Given the description of an element on the screen output the (x, y) to click on. 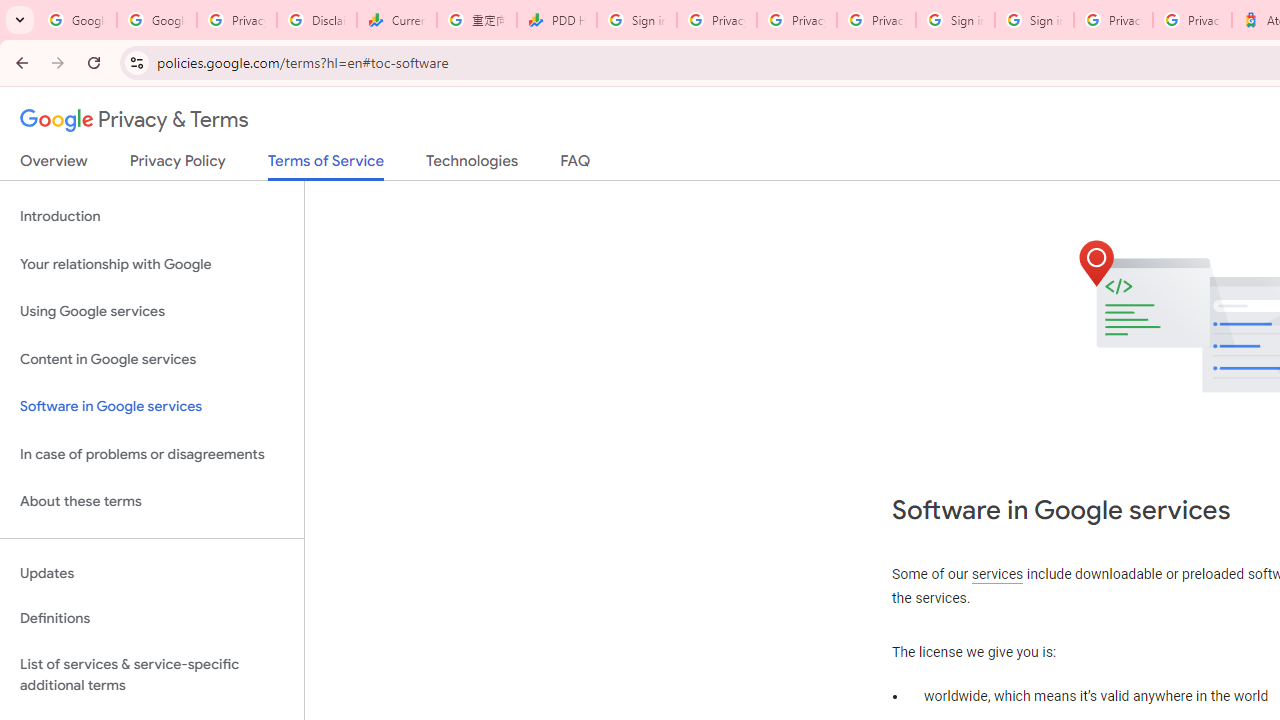
Software in Google services (152, 407)
PDD Holdings Inc - ADR (PDD) Price & News - Google Finance (556, 20)
Sign in - Google Accounts (1033, 20)
Using Google services (152, 312)
